Given the description of an element on the screen output the (x, y) to click on. 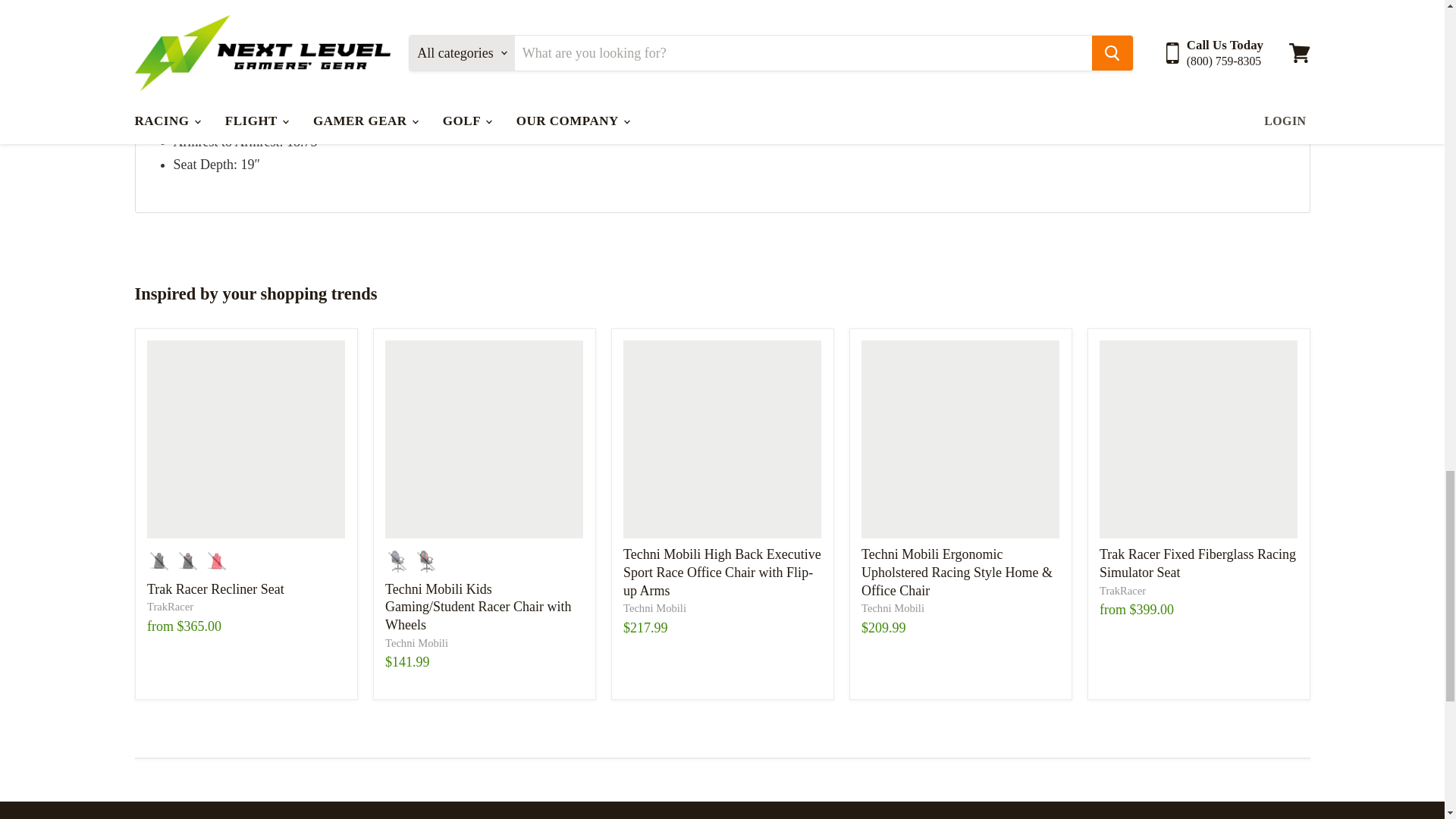
TrakRacer (170, 606)
TrakRacer (1122, 590)
Techni Mobili (416, 643)
Techni Mobili (892, 607)
Techni Mobili (654, 607)
